Given the description of an element on the screen output the (x, y) to click on. 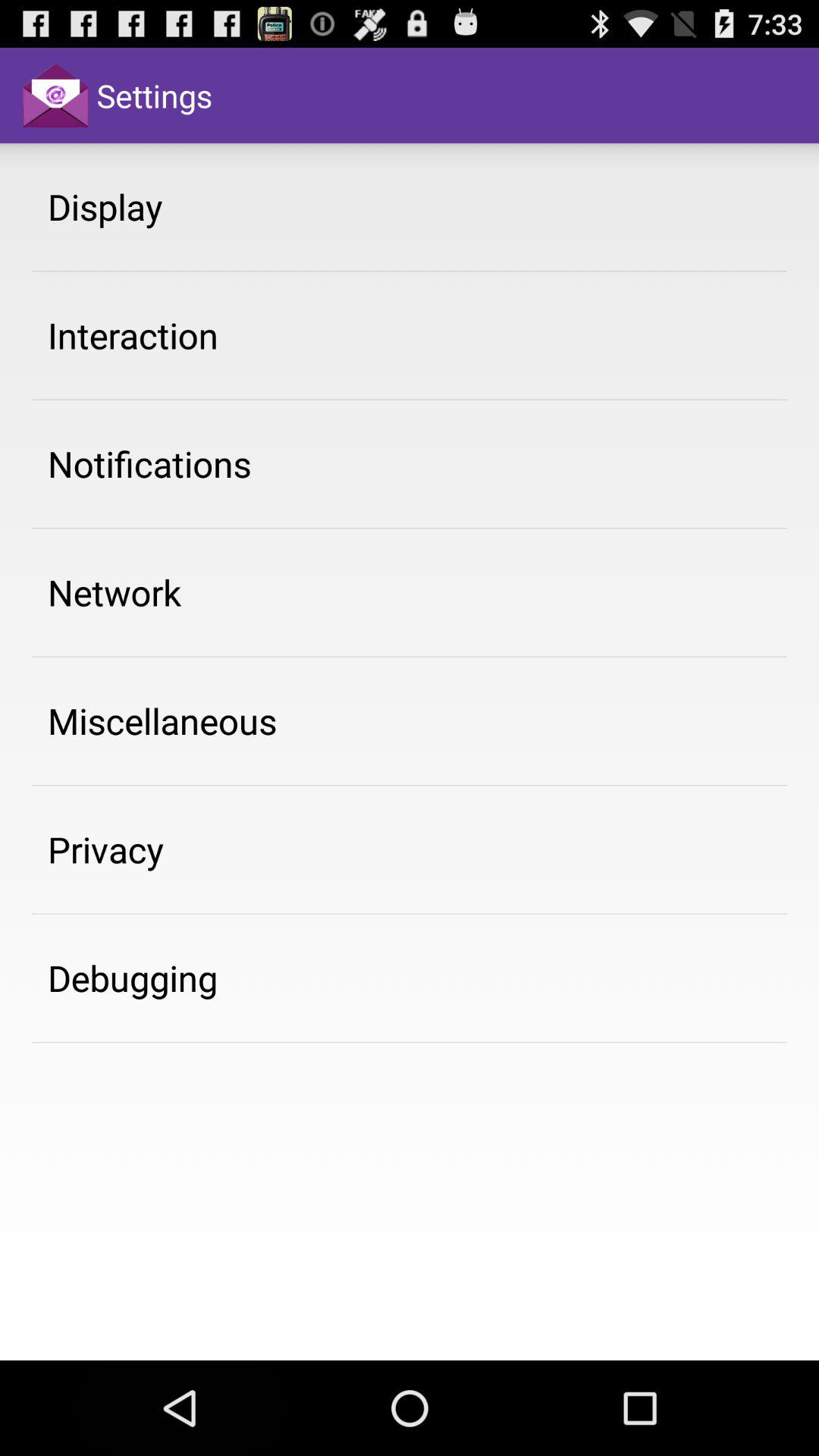
press the app below interaction icon (149, 463)
